Given the description of an element on the screen output the (x, y) to click on. 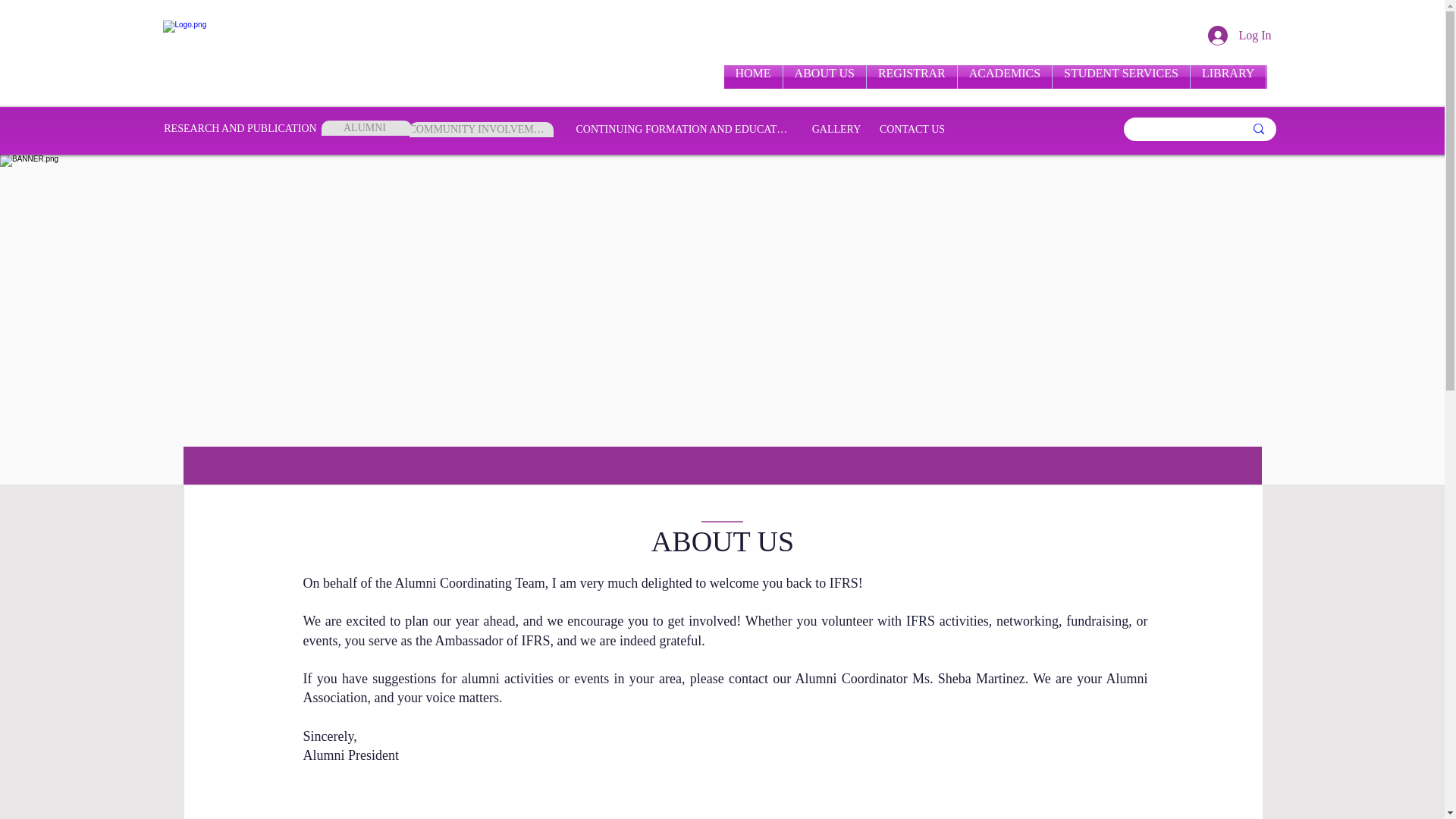
LIBRARY (1228, 76)
CONTINUING FORMATION AND EDUCATION (684, 129)
ALUMNI (366, 127)
Log In (1238, 35)
RESEARCH AND PUBLICATION (239, 128)
GALLERY (837, 129)
HOME (752, 76)
COMMUNITY INVOLVEMENT (481, 129)
CONTACT US (913, 129)
